Given the description of an element on the screen output the (x, y) to click on. 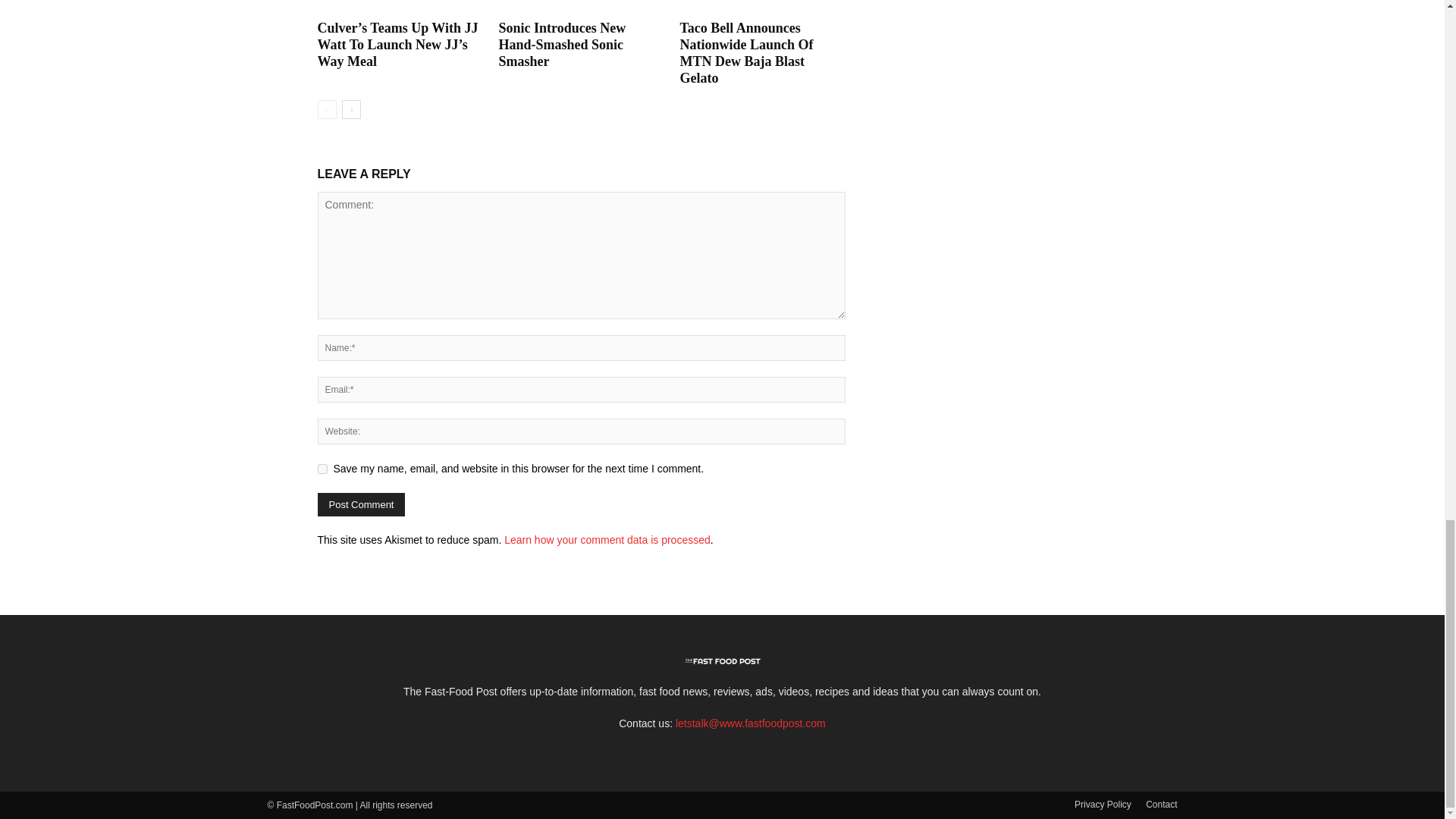
yes (321, 469)
Post Comment (360, 504)
